Given the description of an element on the screen output the (x, y) to click on. 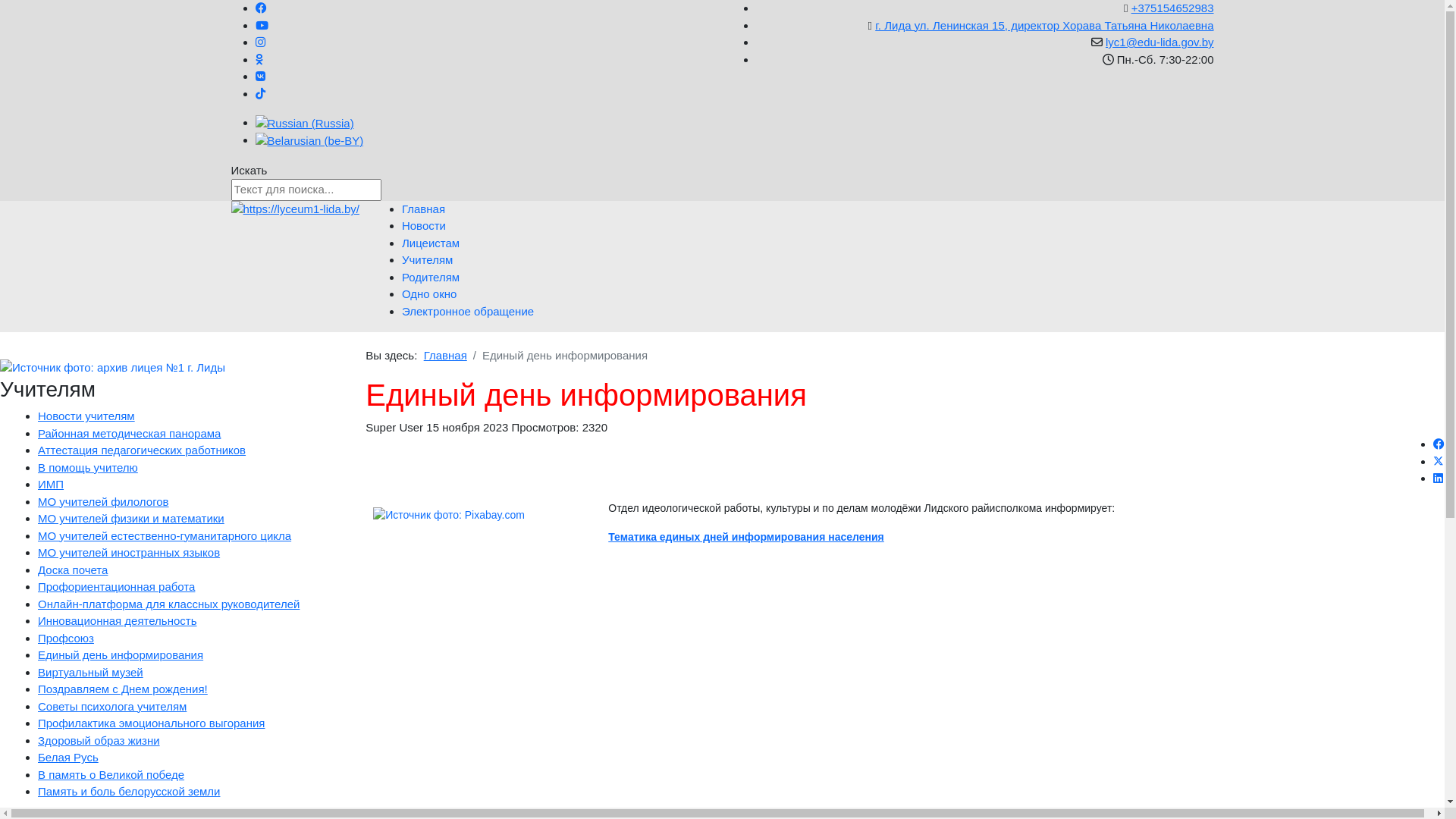
LinkedIn Element type: hover (1438, 477)
Twitter Element type: hover (1438, 461)
+375154652983 Element type: text (1172, 7)
Russian (Russia) Element type: hover (303, 123)
Facebook Element type: hover (1438, 443)
Belarusian (be-BY) Element type: hover (308, 141)
lyc1@edu-lida.gov.by Element type: text (1159, 41)
